Given the description of an element on the screen output the (x, y) to click on. 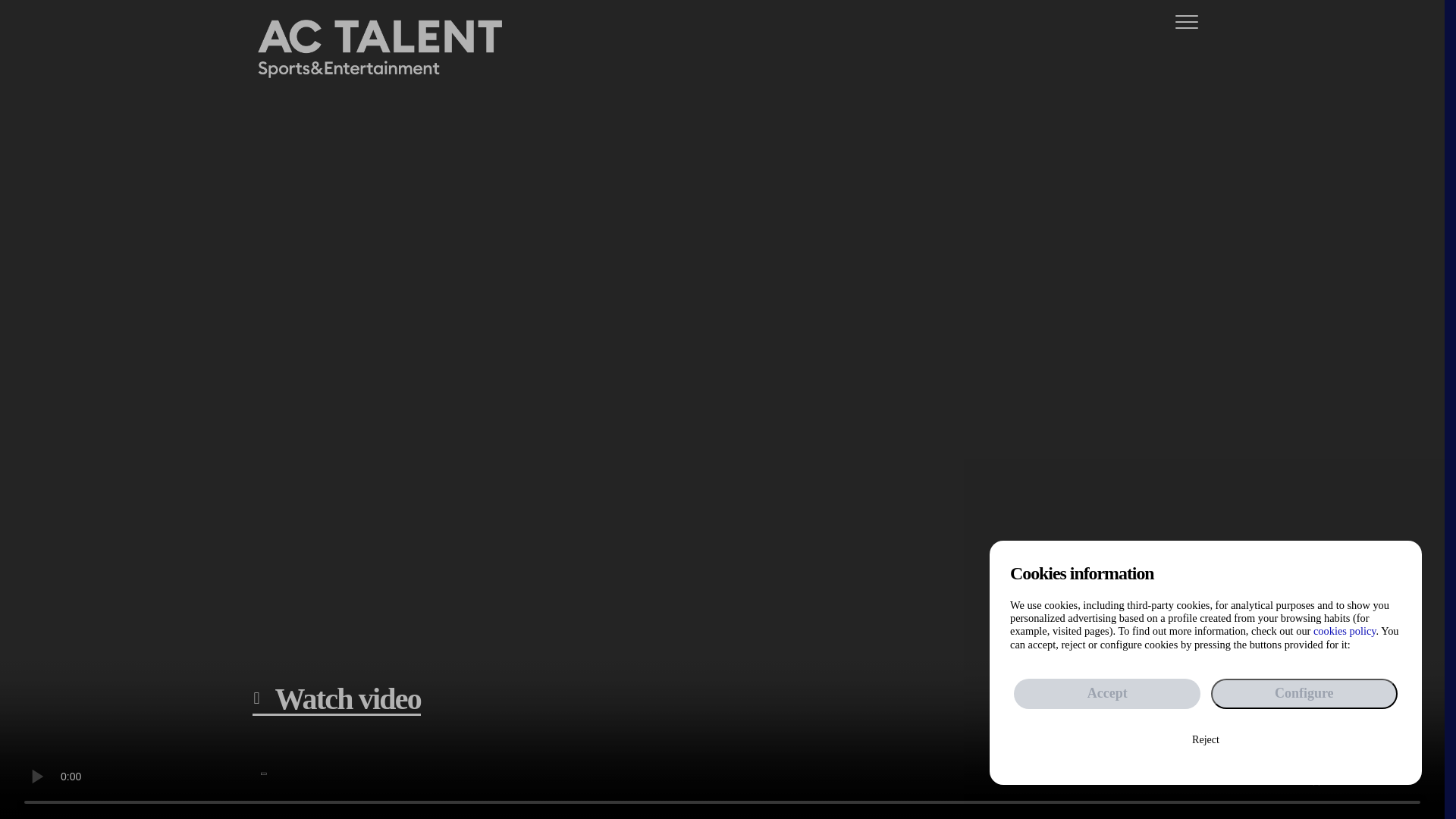
Accept (1106, 693)
cookies policy (1344, 630)
Legal warning (1055, 748)
Data protection (1158, 748)
Watch video (335, 698)
Reject (1206, 740)
Configure (1304, 693)
Cookies policy (953, 748)
